Given the description of an element on the screen output the (x, y) to click on. 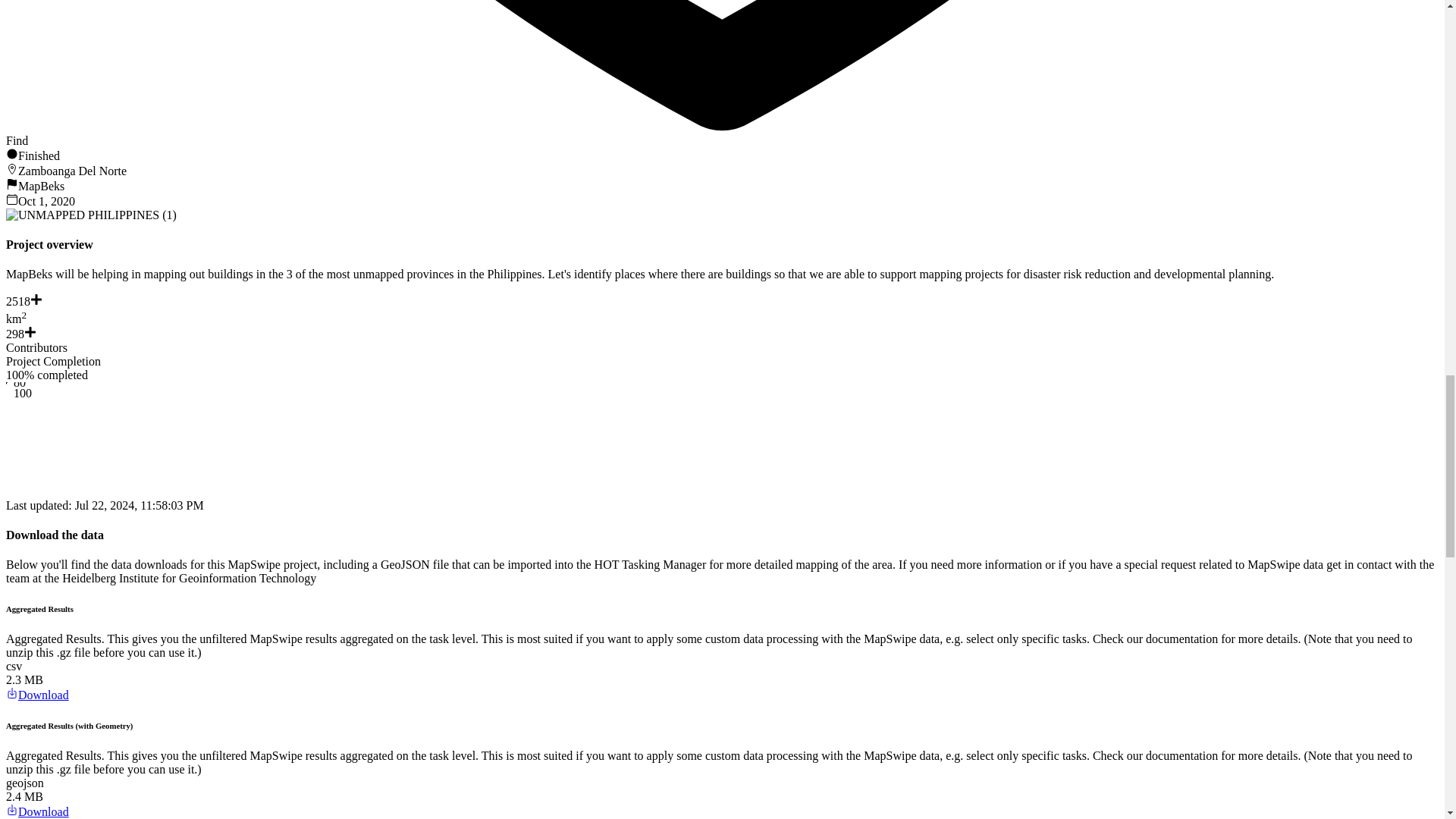
Download (36, 811)
Download (36, 694)
